Given the description of an element on the screen output the (x, y) to click on. 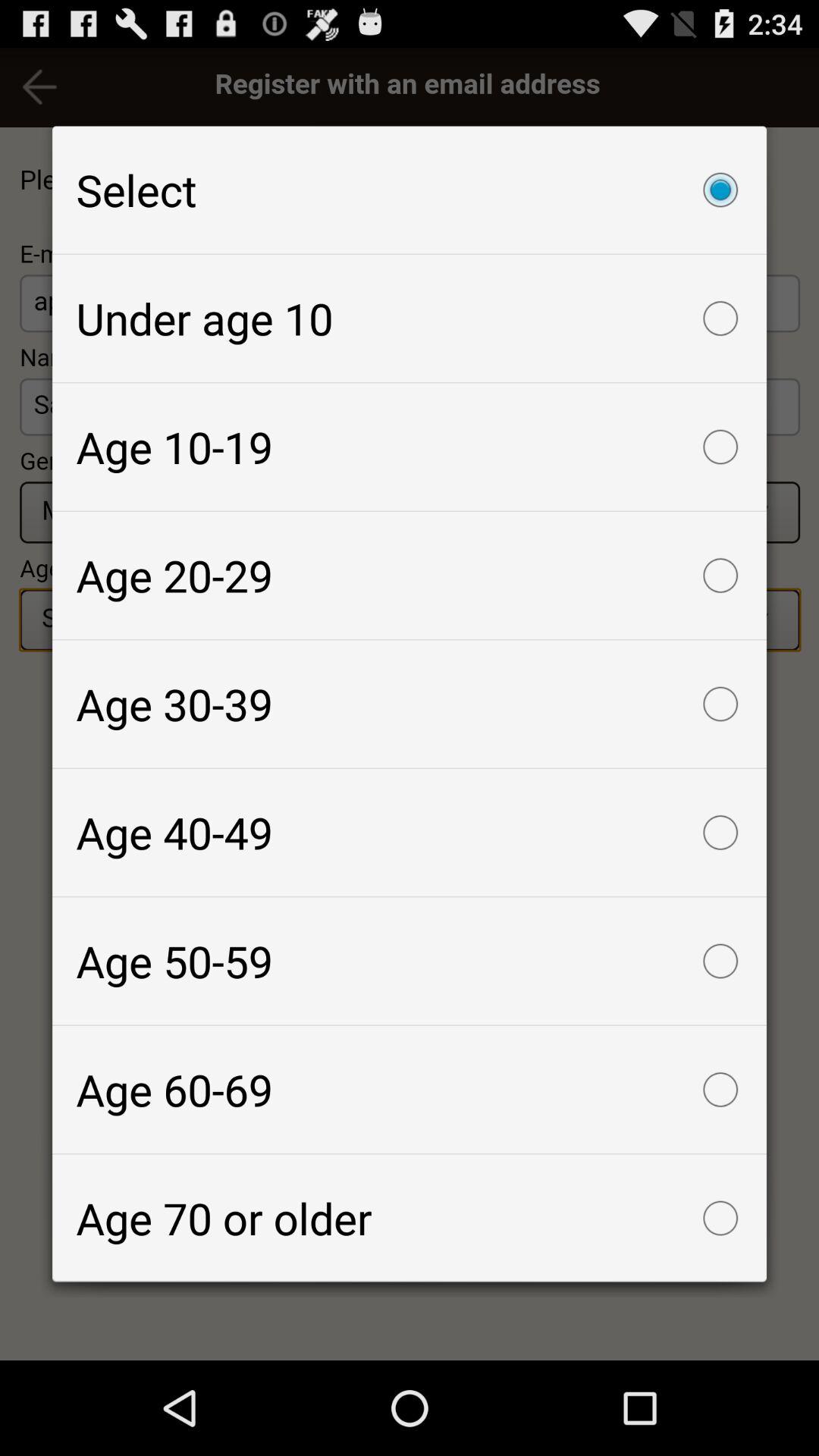
tap icon above age 40-49 icon (409, 703)
